Given the description of an element on the screen output the (x, y) to click on. 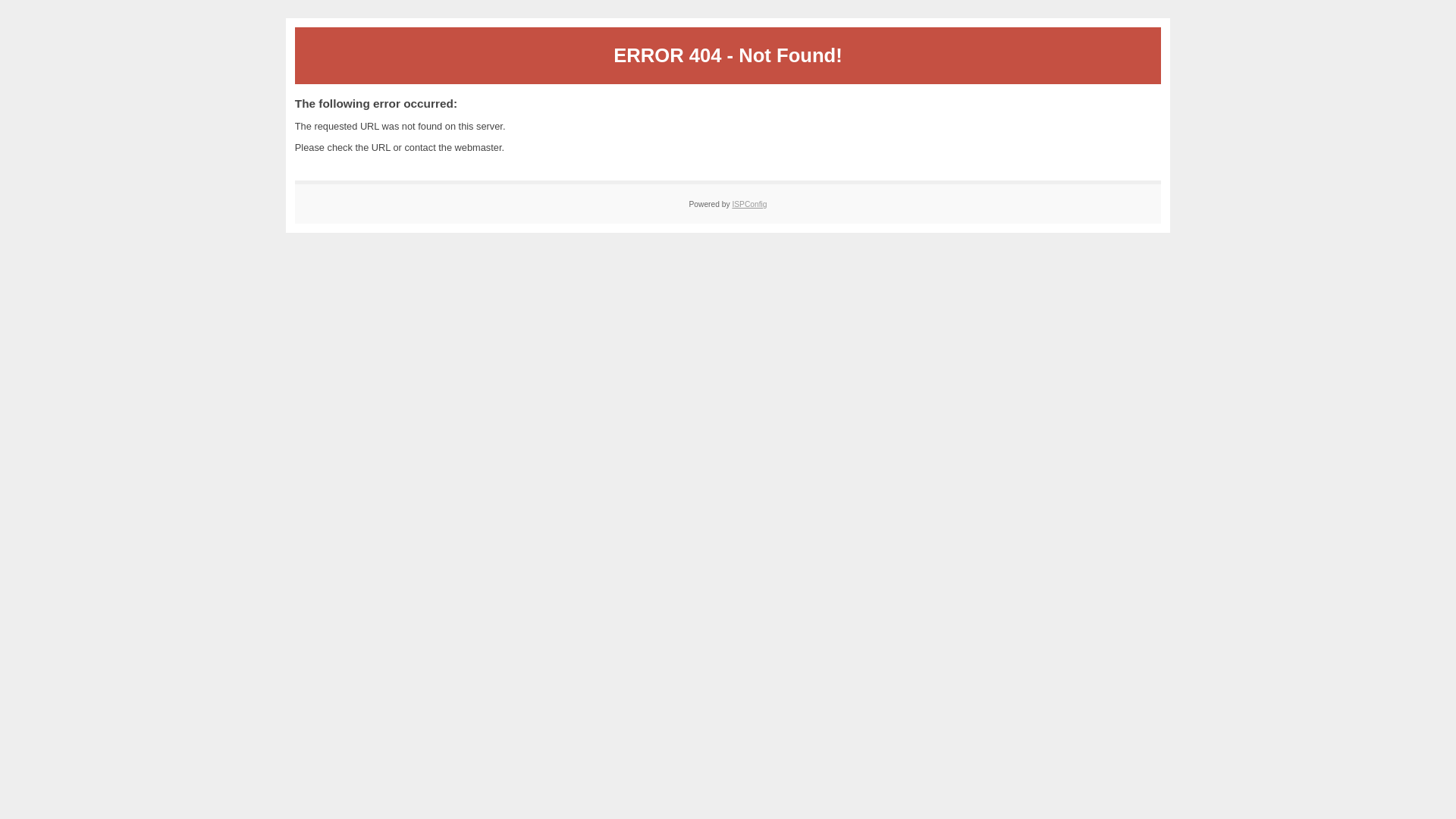
ISPConfig Element type: text (748, 204)
